Given the description of an element on the screen output the (x, y) to click on. 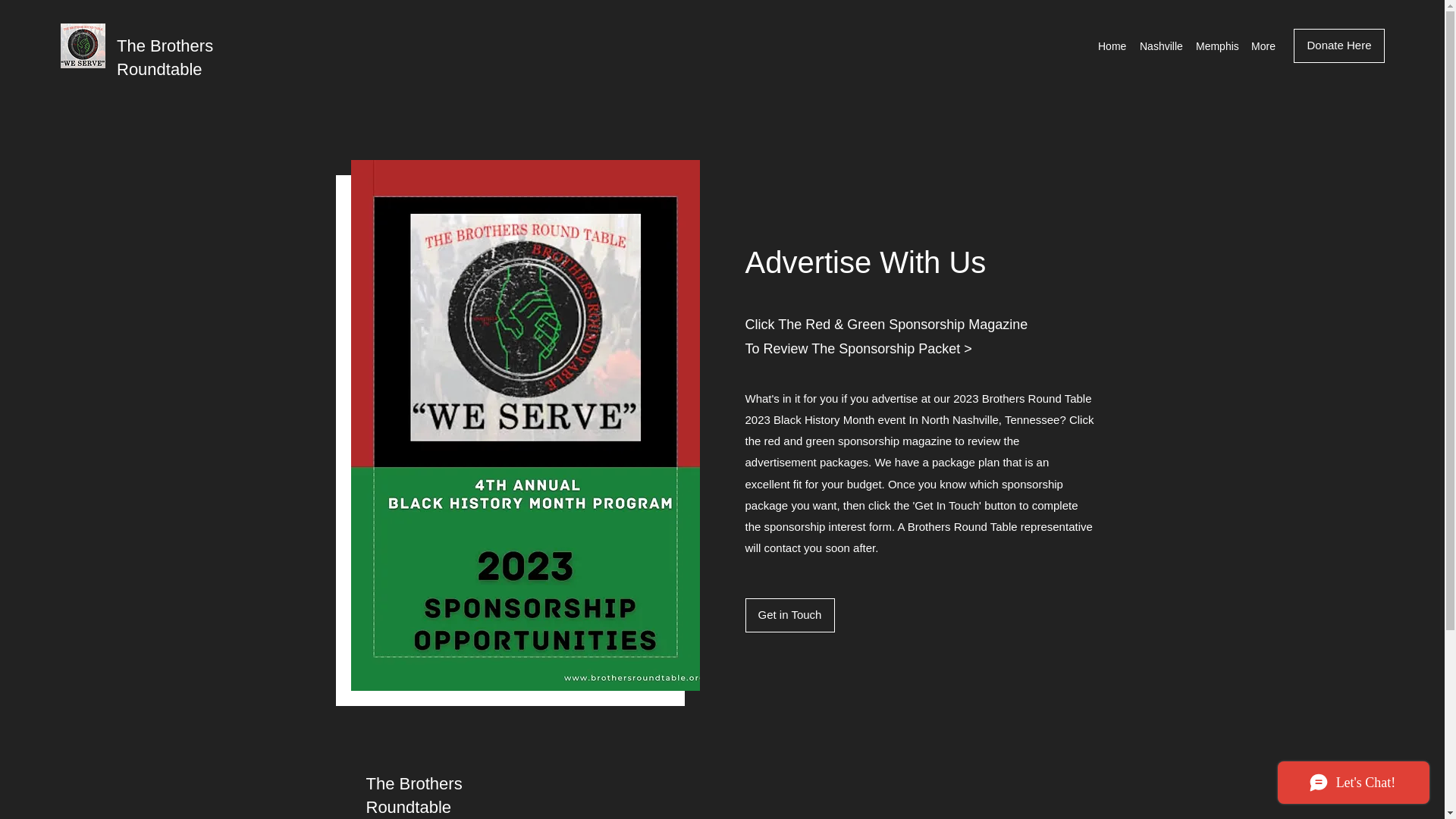
The Brothers Roundtable (413, 794)
The Brothers Roundtable (164, 57)
Home (1111, 46)
Donate Here (1339, 45)
Get in Touch (789, 615)
Nashville (1160, 46)
Memphis (1215, 46)
